Given the description of an element on the screen output the (x, y) to click on. 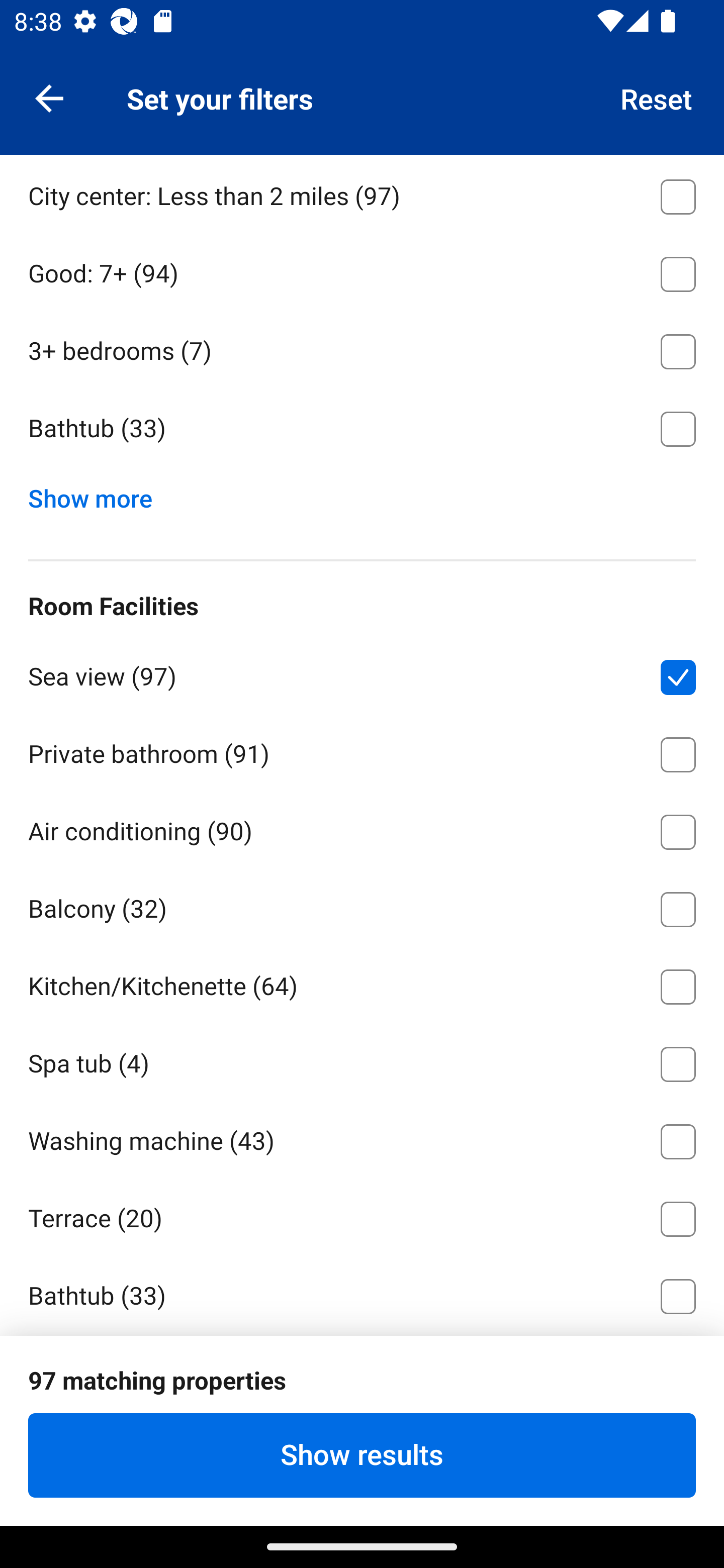
Navigate up (49, 97)
Reset (656, 97)
Vacation Homes ⁦(5) (361, 115)
City center: Less than 2 miles ⁦(97) (361, 193)
Good: 7+ ⁦(94) (361, 270)
3+ bedrooms ⁦(7) (361, 347)
Bathtub ⁦(33) (361, 429)
Show more (97, 494)
Sea view ⁦(97) (361, 673)
Private bathroom ⁦(91) (361, 750)
Air conditioning ⁦(90) (361, 828)
Balcony ⁦(32) (361, 906)
Kitchen/Kitchenette ⁦(64) (361, 983)
Spa tub ⁦(4) (361, 1060)
Washing machine ⁦(43) (361, 1138)
Terrace ⁦(20) (361, 1215)
Bathtub ⁦(33) (361, 1292)
Show results (361, 1454)
